Given the description of an element on the screen output the (x, y) to click on. 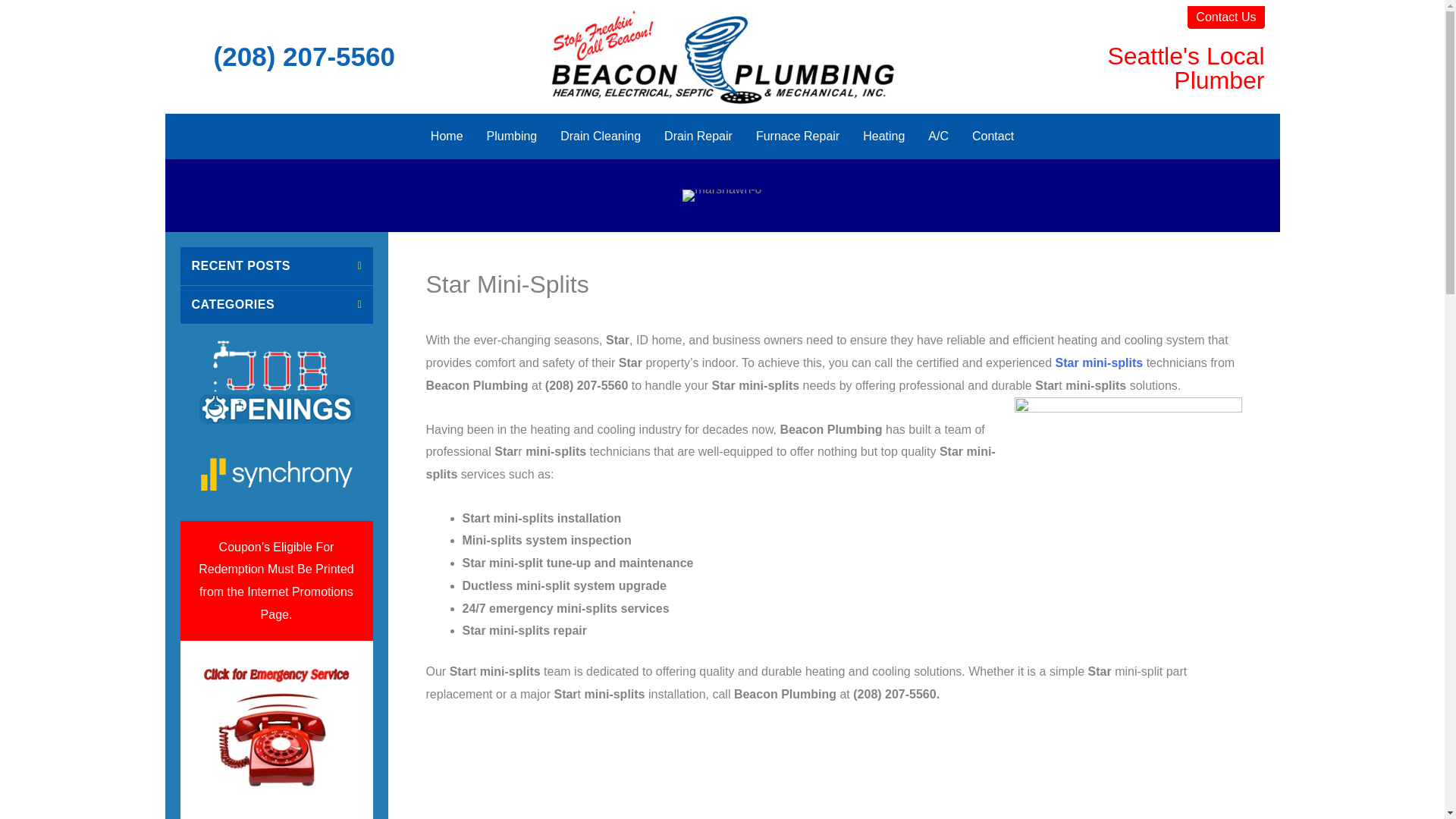
marshawn-0 (721, 195)
Heating (883, 135)
Home (446, 135)
Contact Us (1225, 16)
Contact (992, 135)
Seattle Plumbing (722, 56)
Find-plumber-seattle.gif (276, 726)
Drain Repair (698, 135)
Drain Cleaning (600, 135)
Furnace Repair (797, 135)
Plumbing (512, 135)
